Given the description of an element on the screen output the (x, y) to click on. 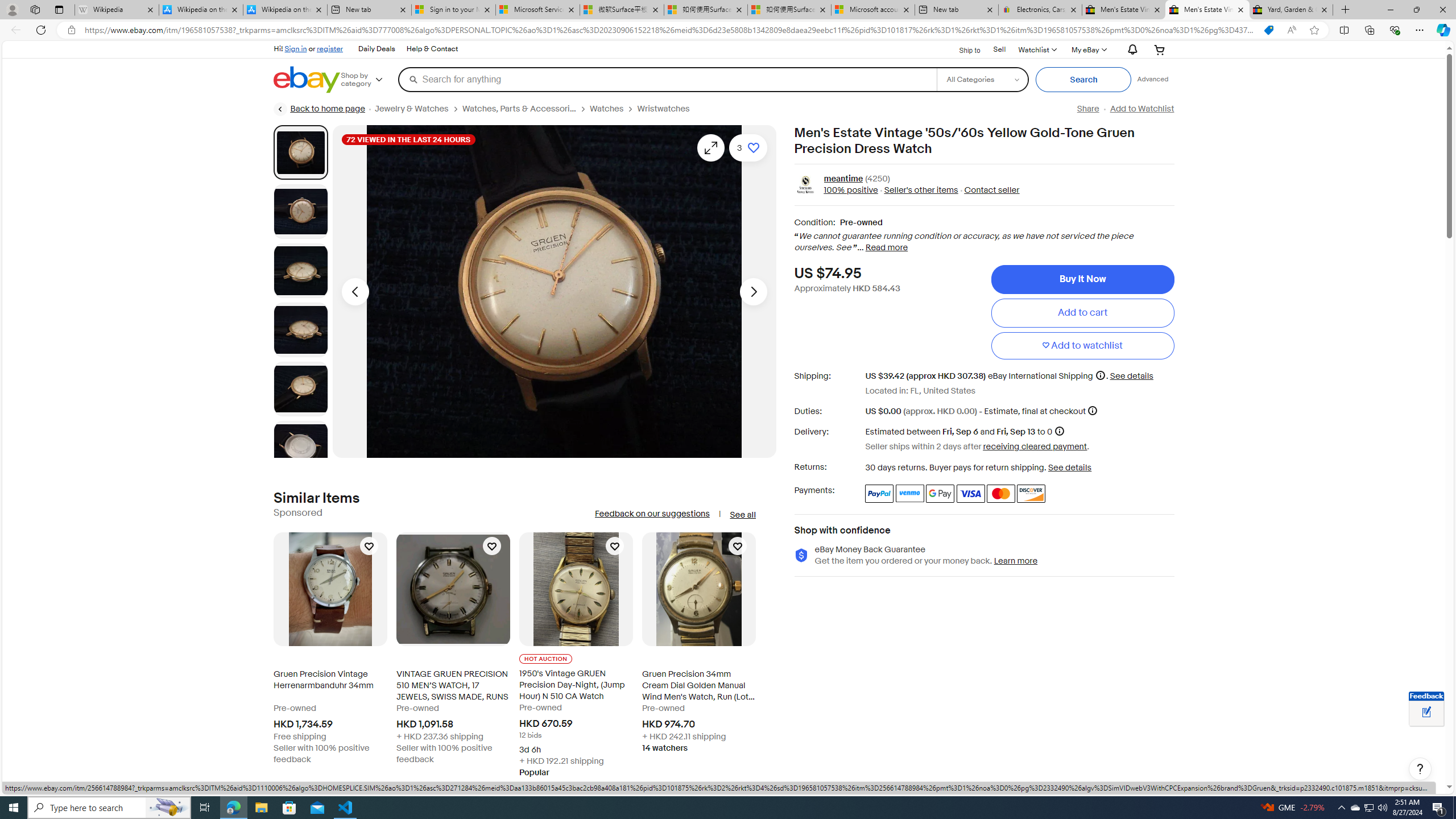
My eBayExpand My eBay (1088, 49)
Picture 5 of 8 (300, 388)
Shop by category (368, 79)
Watches (613, 108)
100% positive (850, 190)
Add to cart (1082, 312)
Buy It Now (1082, 279)
Picture 3 of 8 (300, 270)
Advanced Search (1152, 78)
